Given the description of an element on the screen output the (x, y) to click on. 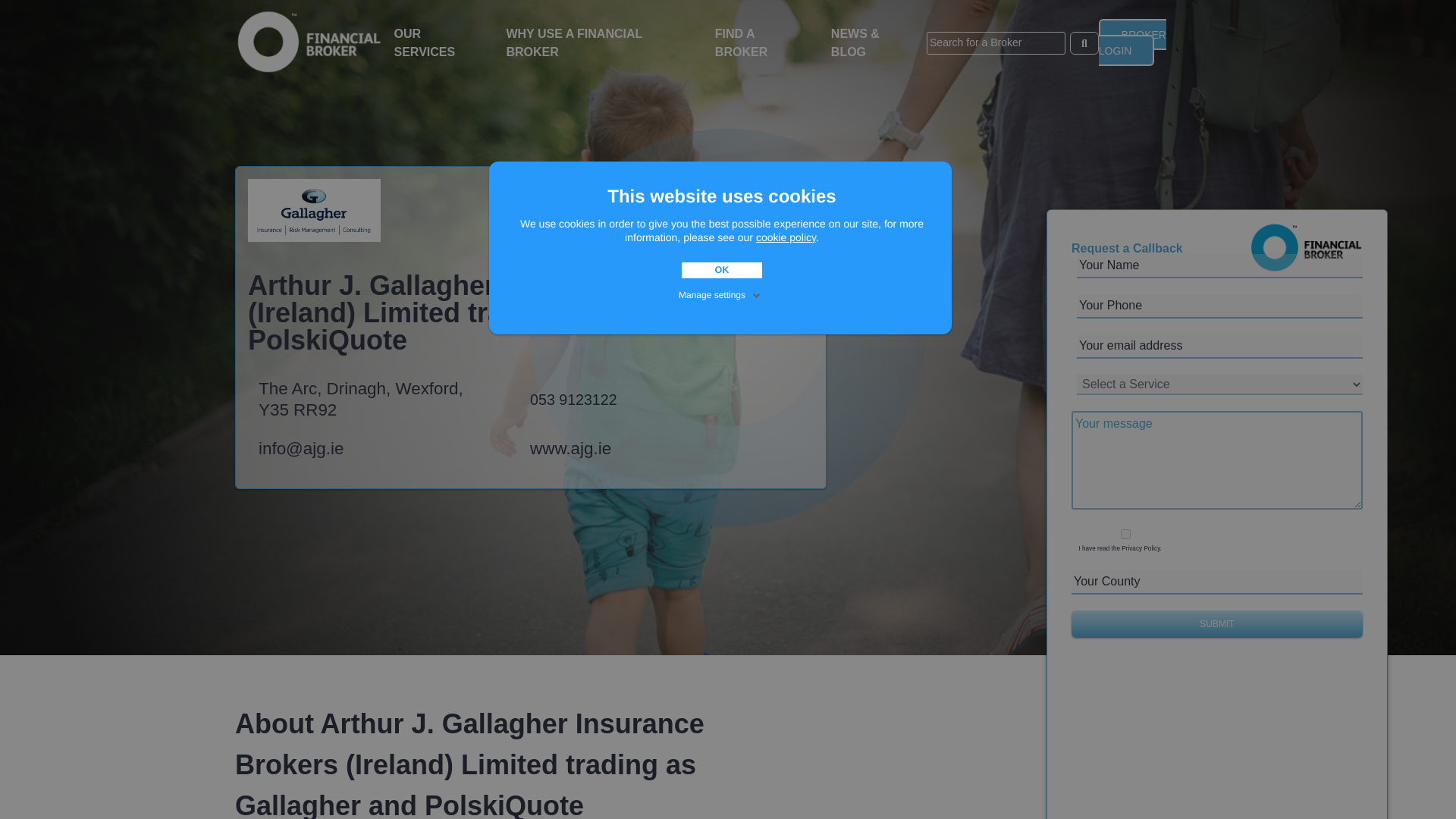
Manage settings (720, 292)
I have read the Privacy Policy. (1125, 533)
cookie policy (785, 236)
Submit (1216, 624)
OK (721, 270)
